Given the description of an element on the screen output the (x, y) to click on. 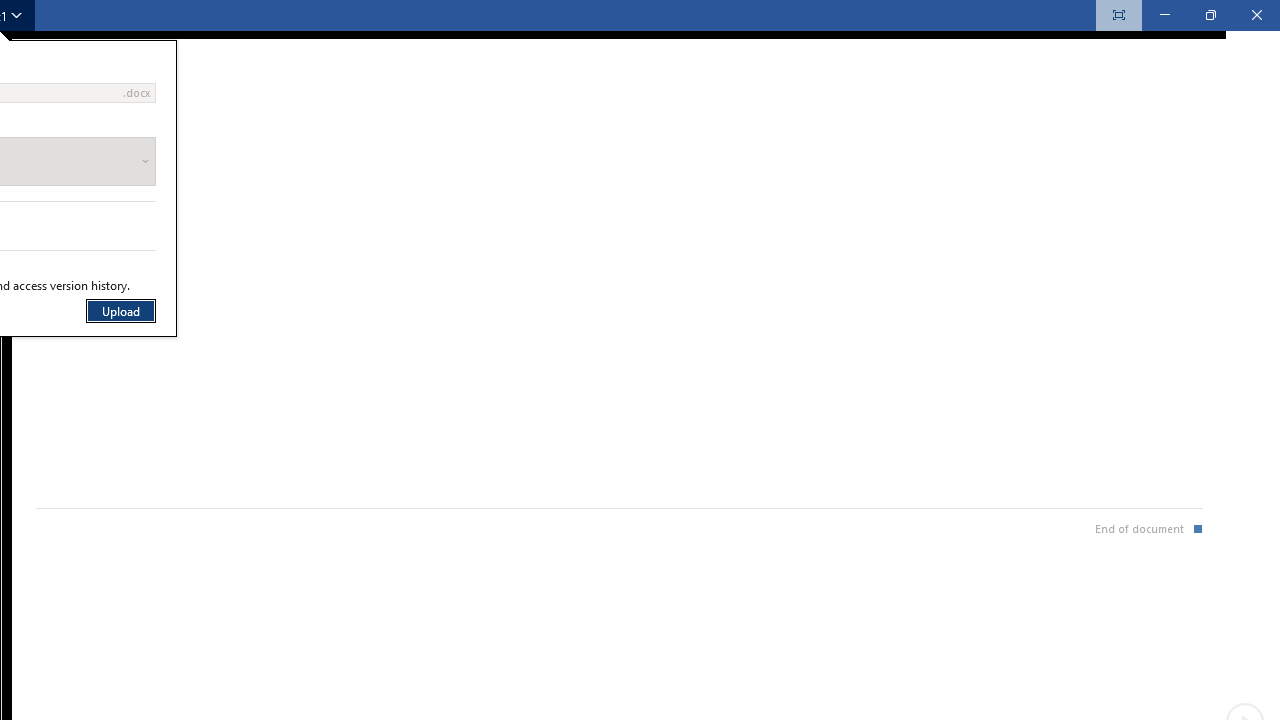
Always Show Reading Toolbar (1118, 15)
